Given the description of an element on the screen output the (x, y) to click on. 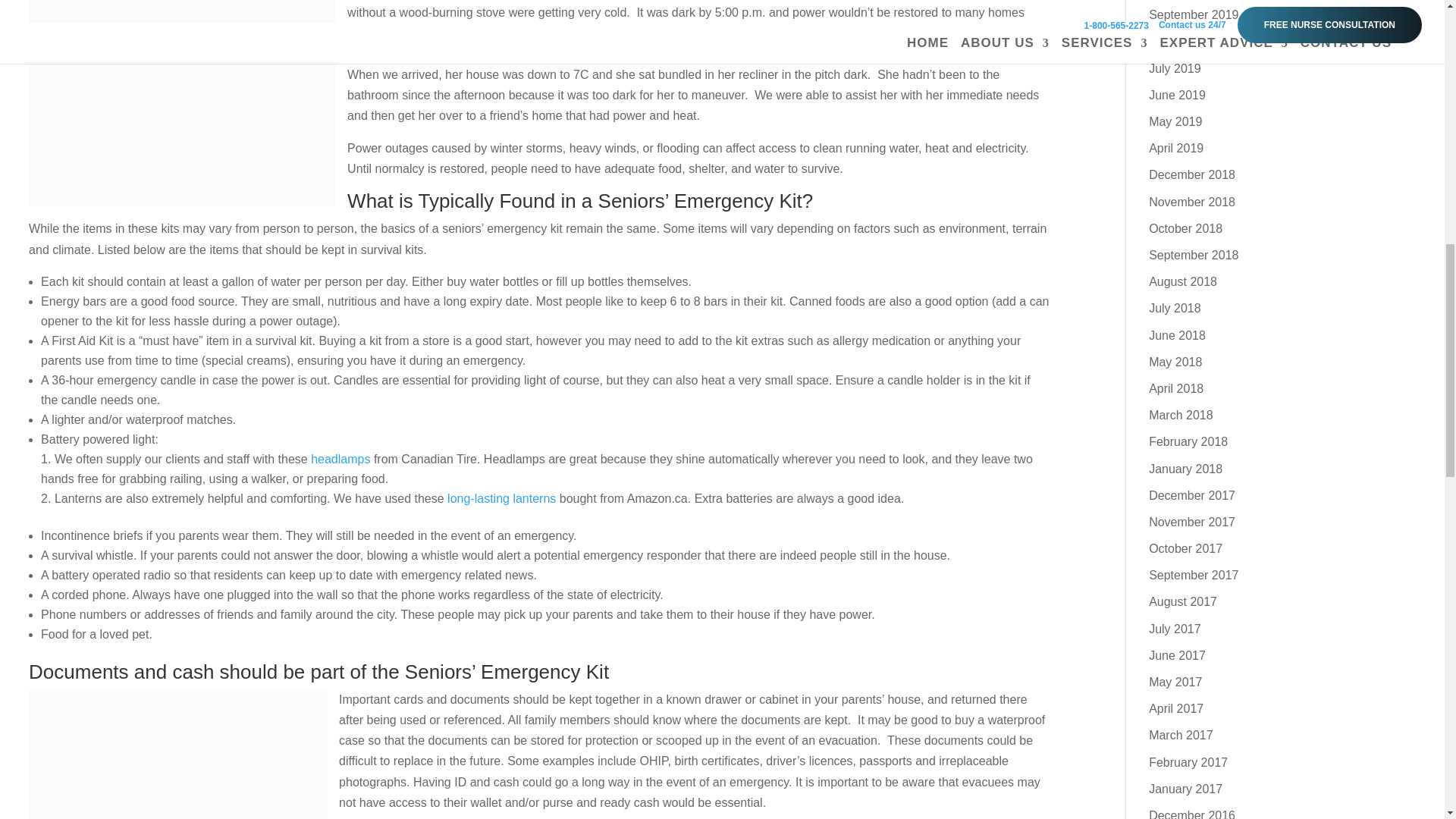
seniors emergency kit - lantern (501, 498)
seniors emergency kit - head lamp (340, 459)
